Given the description of an element on the screen output the (x, y) to click on. 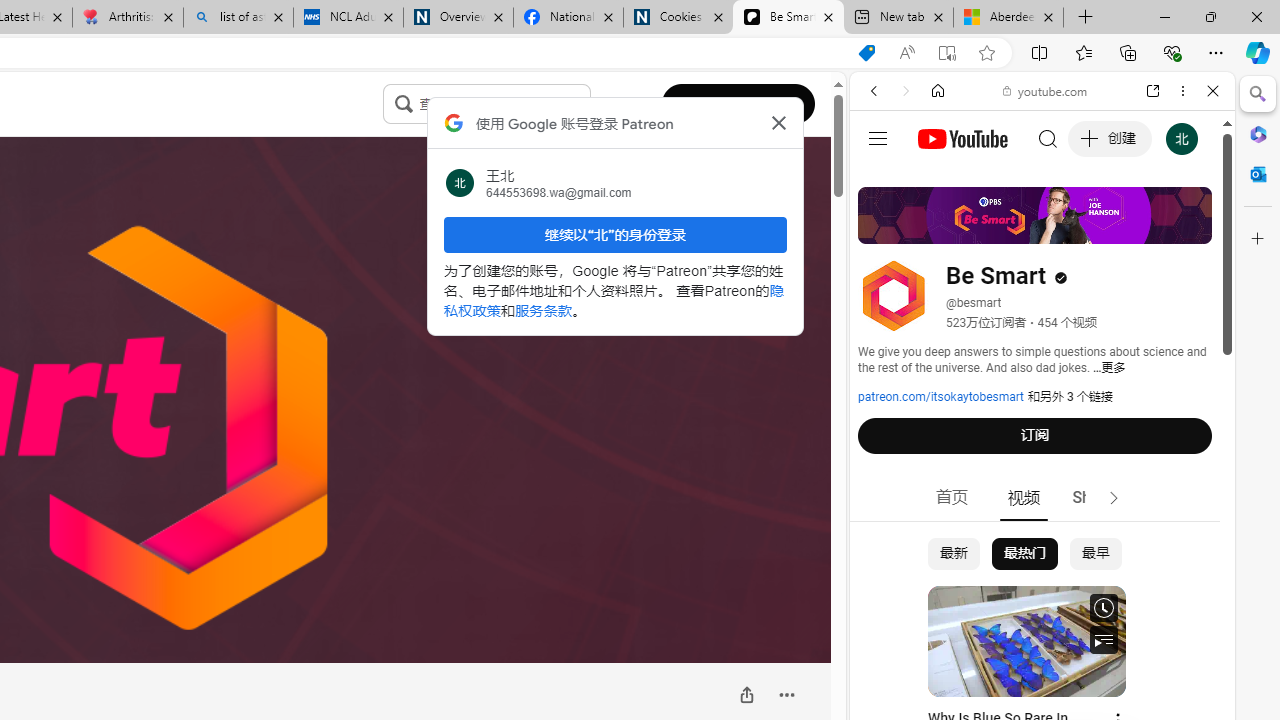
youtube.com (1046, 90)
